Given the description of an element on the screen output the (x, y) to click on. 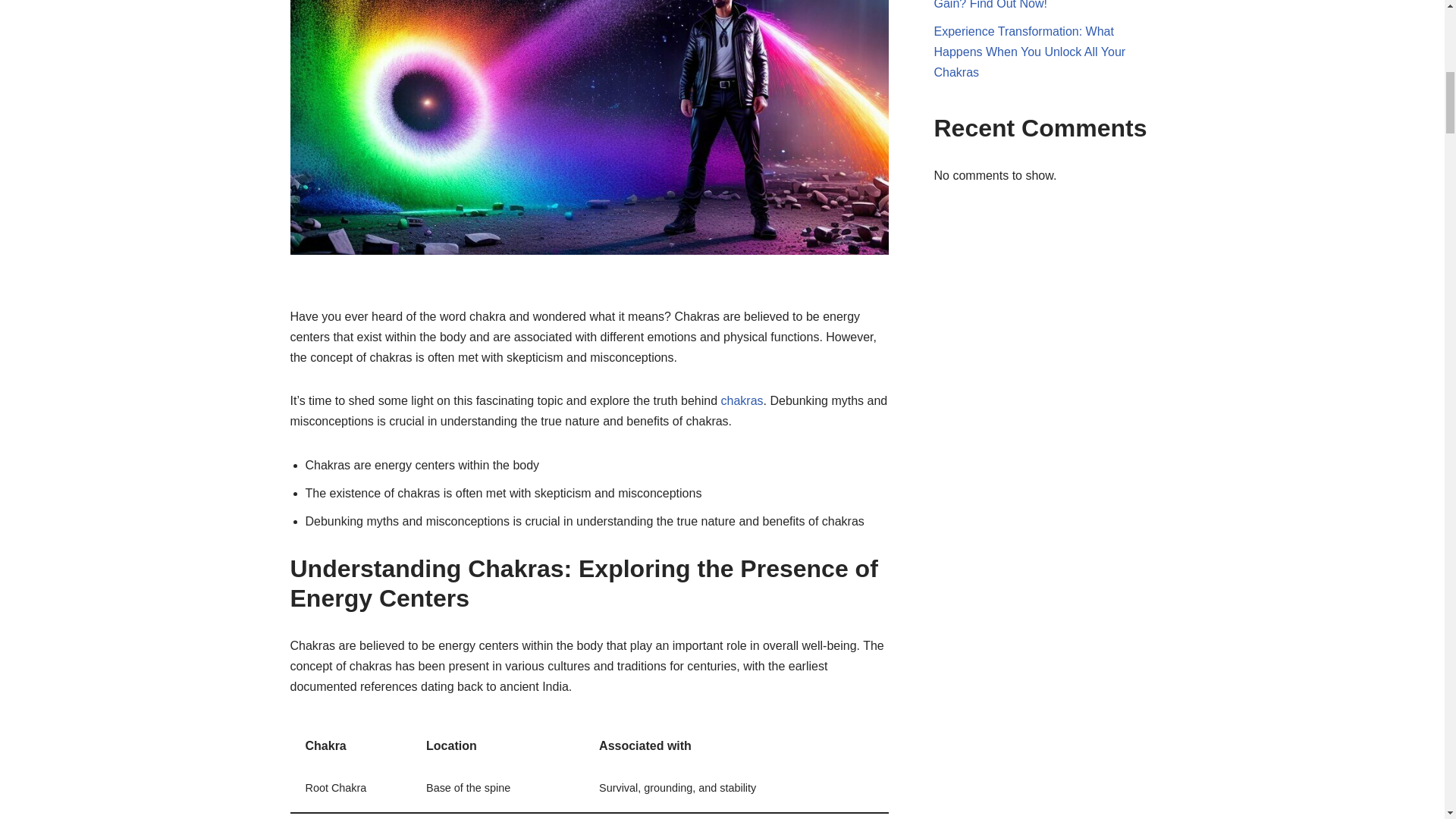
chakras (741, 400)
chakras (741, 400)
